Given the description of an element on the screen output the (x, y) to click on. 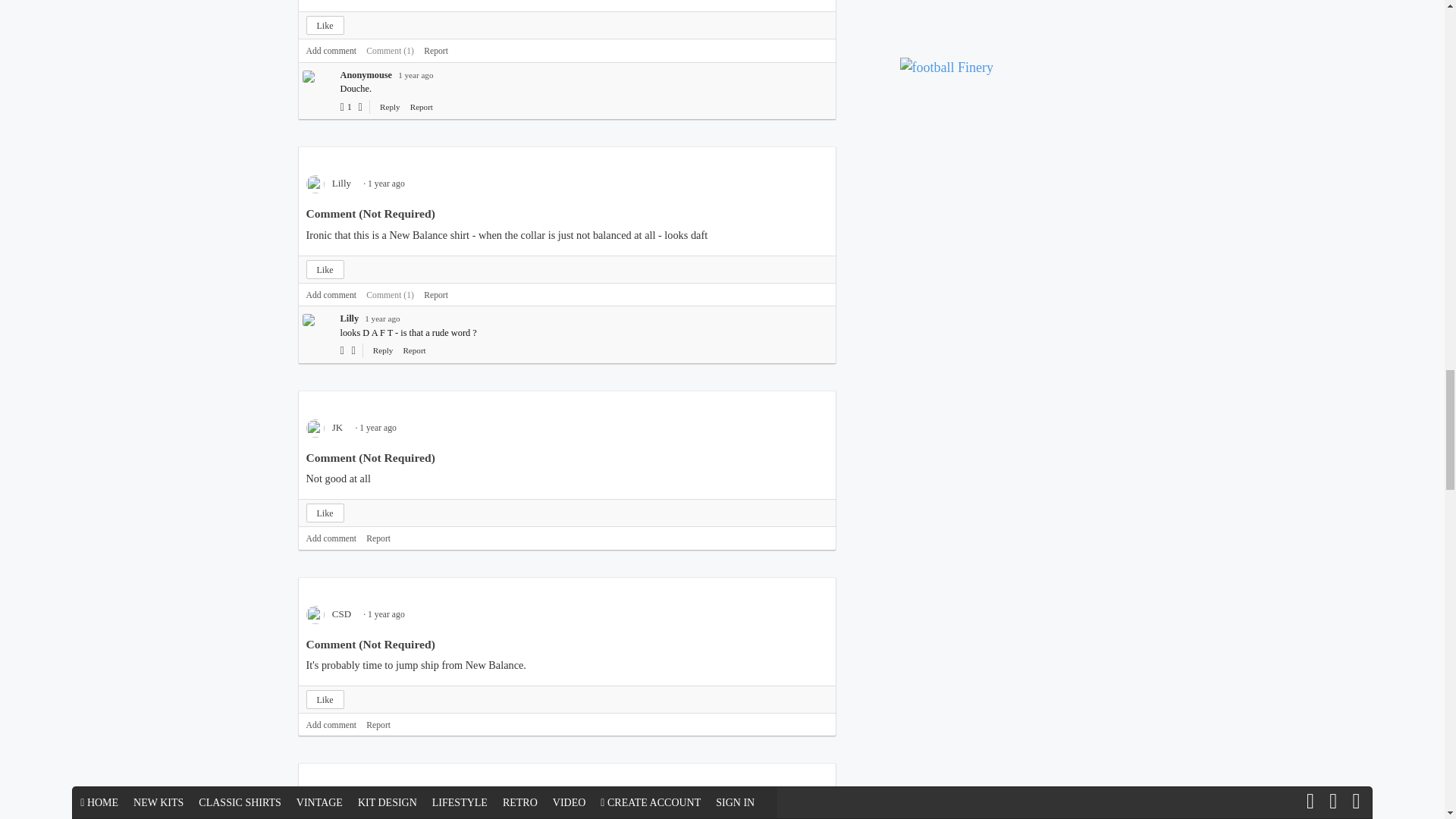
Anonymouse (315, 75)
JK (329, 427)
CSD (333, 613)
Lilly  (333, 183)
Lilly  (315, 319)
